Given the description of an element on the screen output the (x, y) to click on. 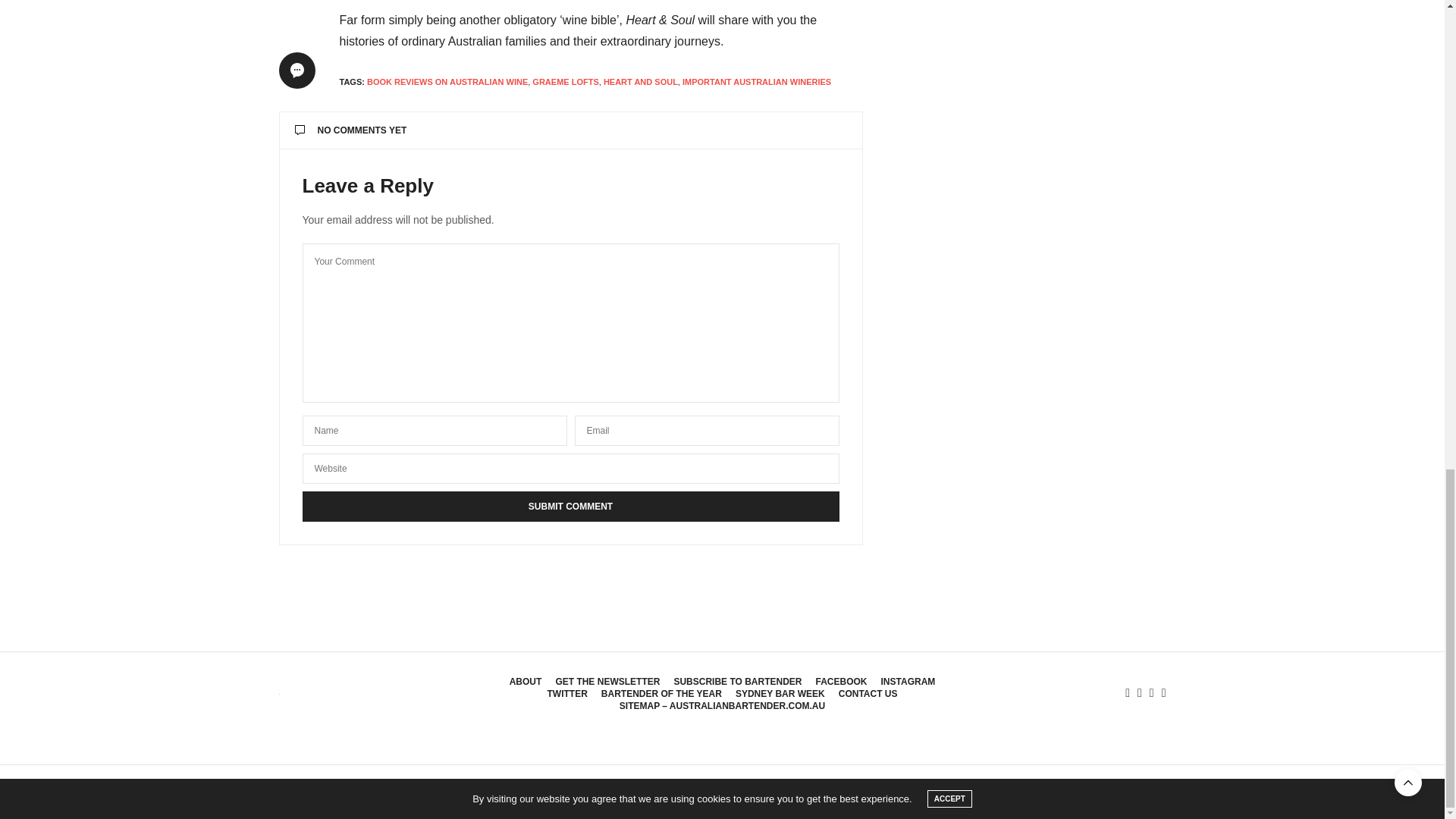
Submit Comment (569, 506)
